Given the description of an element on the screen output the (x, y) to click on. 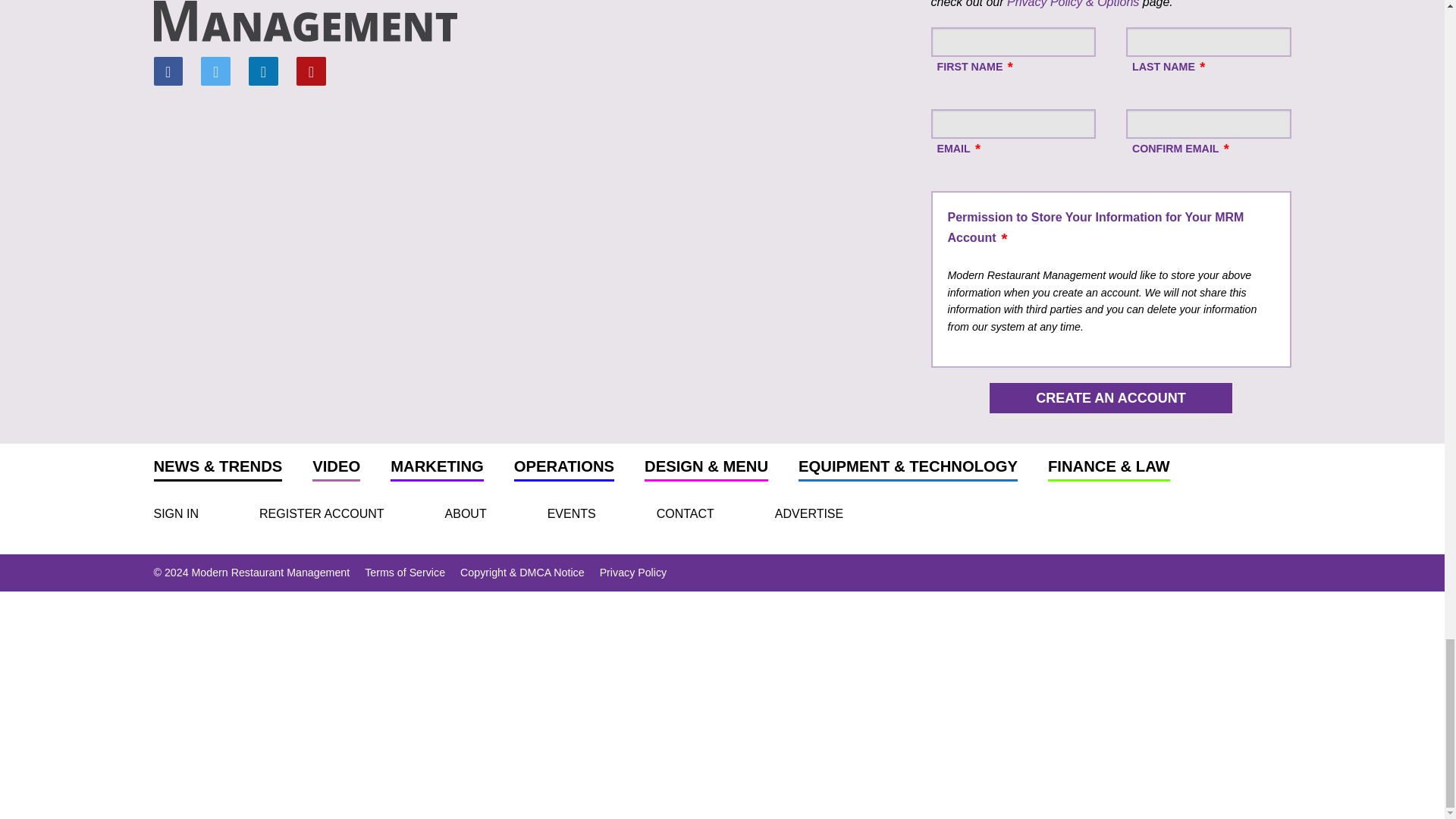
Youtube (310, 70)
Create an Account (1110, 398)
VIDEO (336, 469)
Facebook (167, 70)
Create an Account (1110, 398)
Linkedin (263, 70)
MARKETING (436, 469)
Twitter (215, 70)
